Given the description of an element on the screen output the (x, y) to click on. 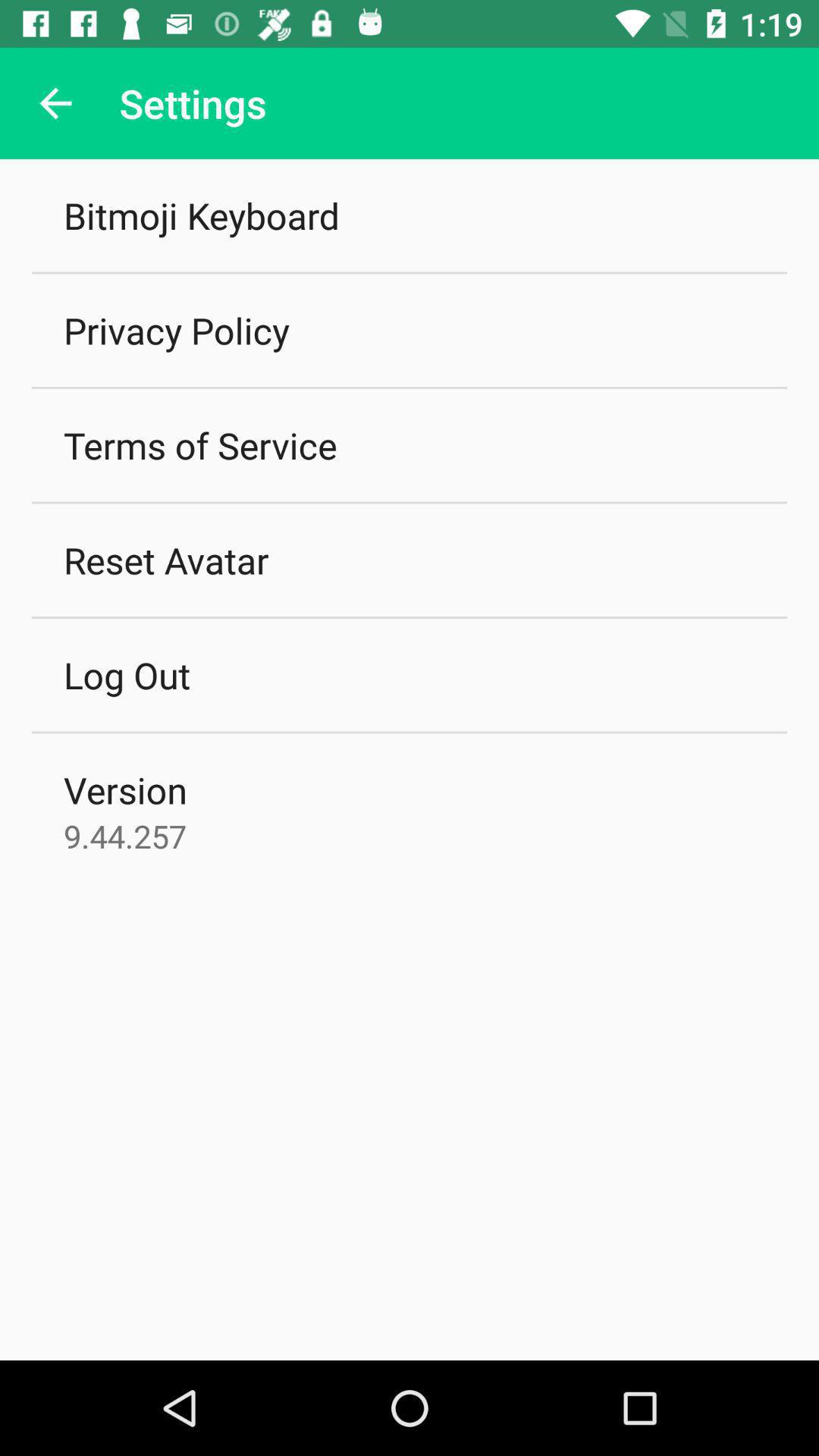
click the icon above bitmoji keyboard icon (55, 103)
